Given the description of an element on the screen output the (x, y) to click on. 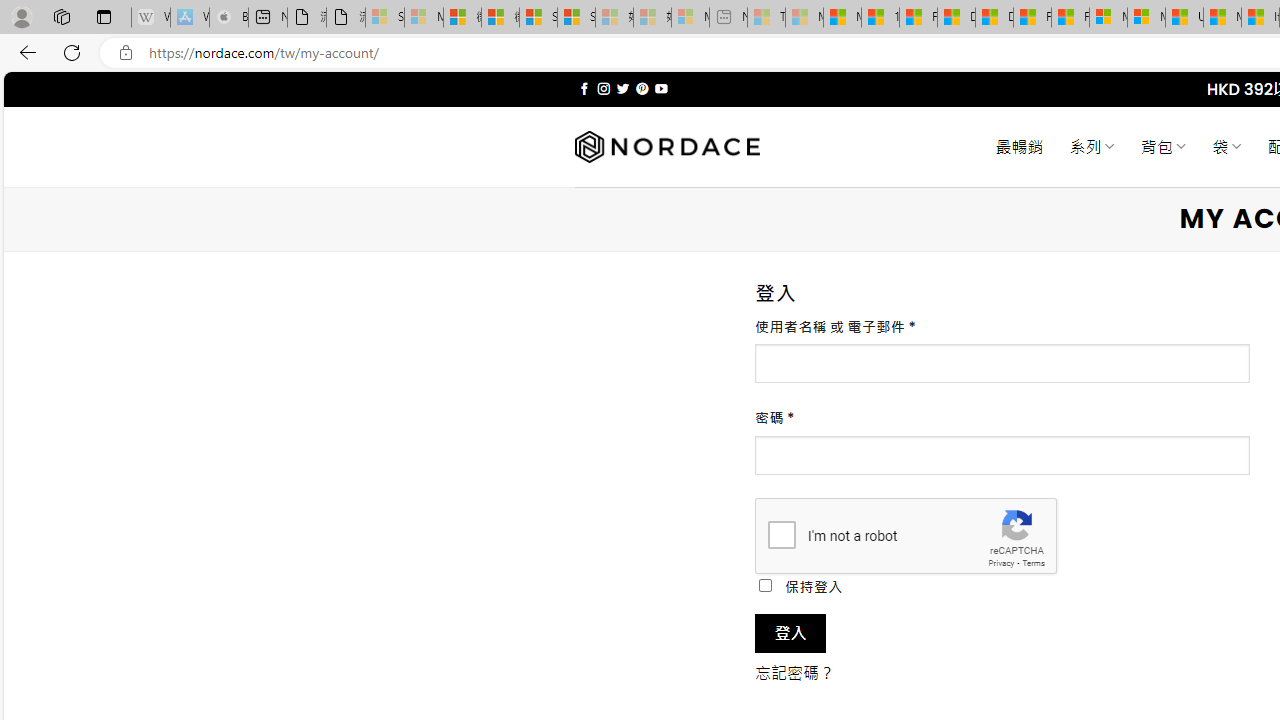
Terms (1033, 562)
Foo BAR | Trusted Community Engagement and Contributions (1070, 17)
Follow on YouTube (661, 88)
Follow on Facebook (584, 88)
Drinking tea every day is proven to delay biological aging (993, 17)
